Given the description of an element on the screen output the (x, y) to click on. 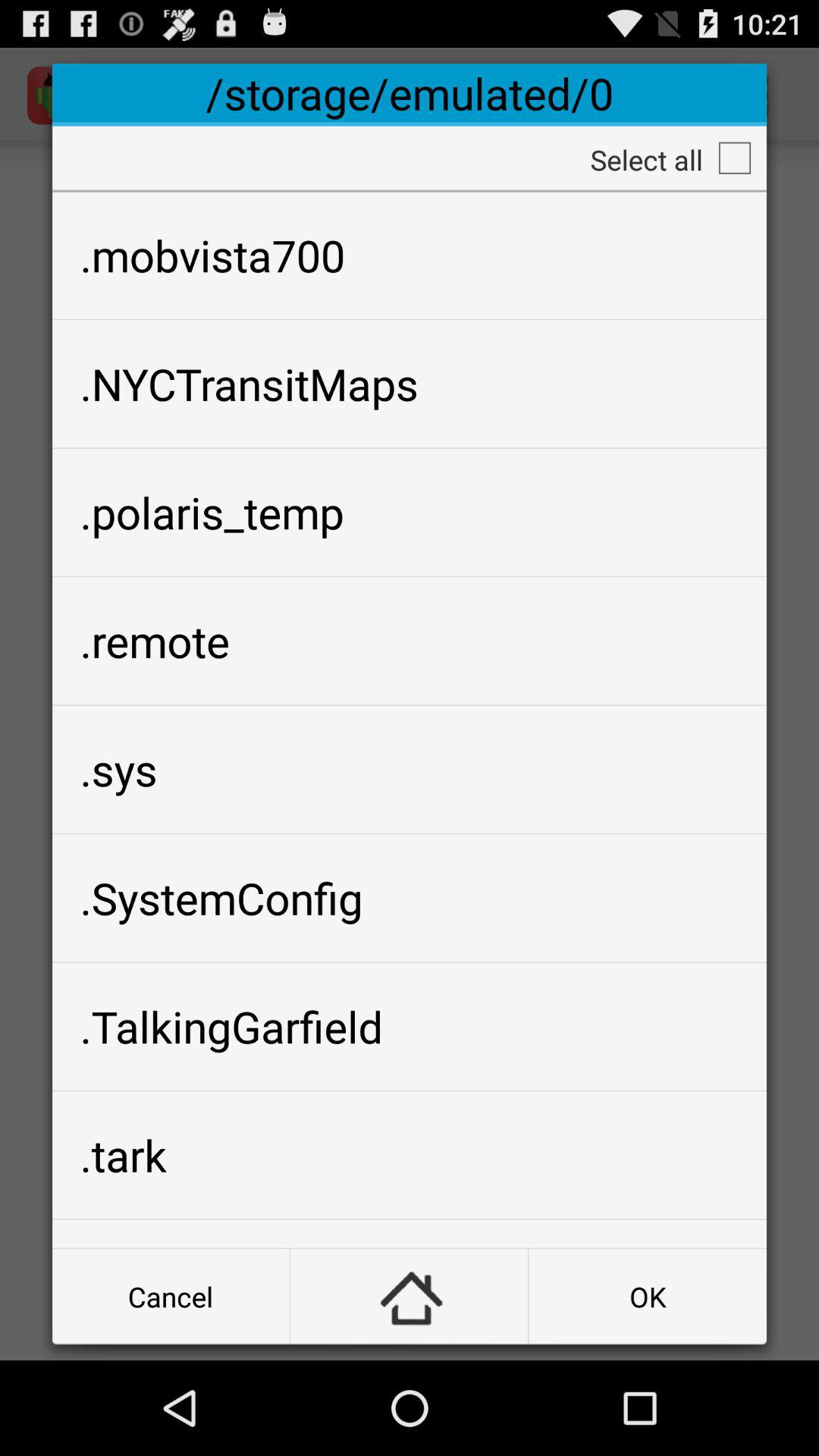
scroll to button (408, 1296)
